Given the description of an element on the screen output the (x, y) to click on. 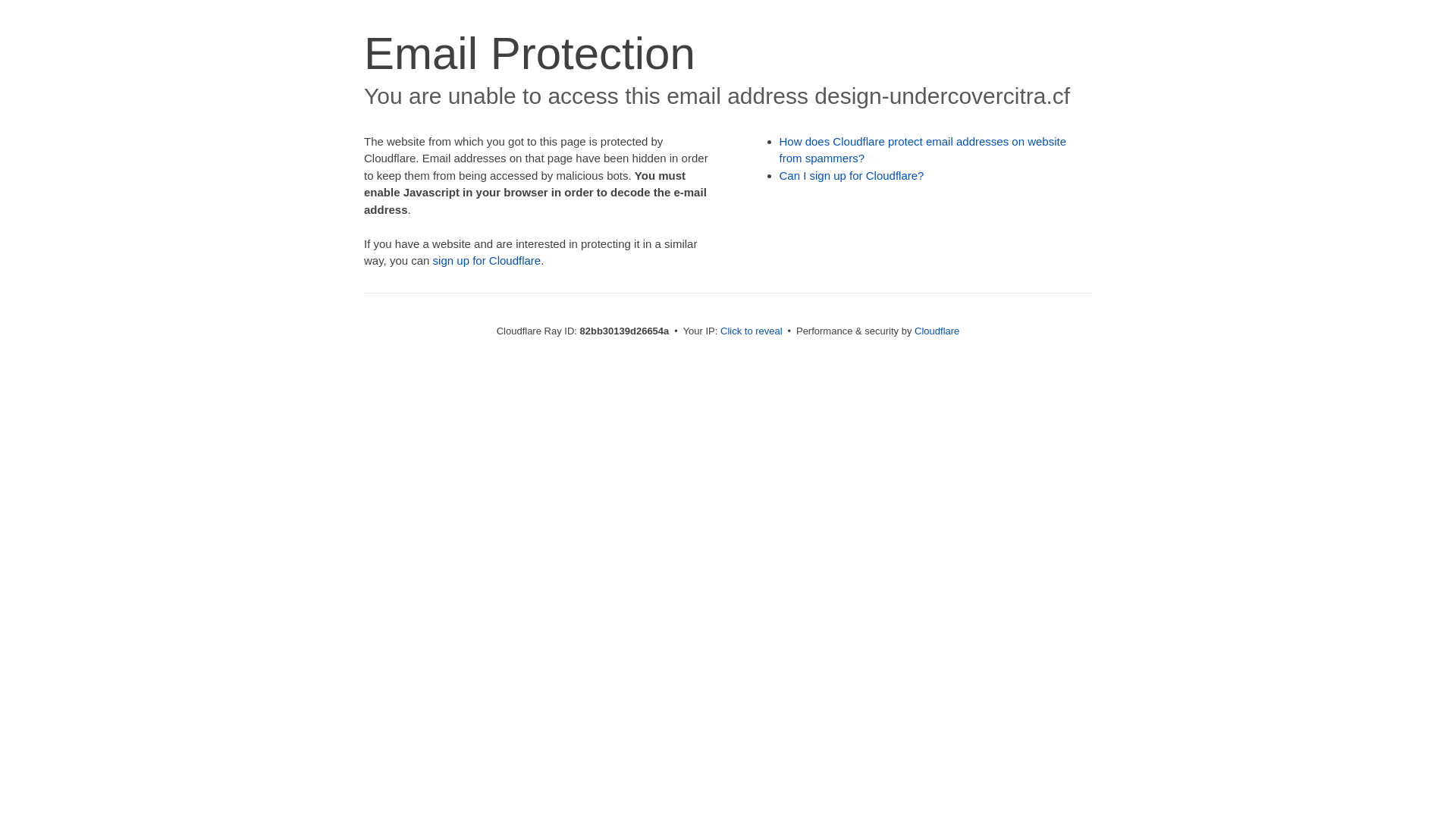
Can I sign up for Cloudflare? Element type: text (851, 175)
Click to reveal Element type: text (751, 330)
sign up for Cloudflare Element type: text (487, 260)
Cloudflare Element type: text (936, 330)
